Given the description of an element on the screen output the (x, y) to click on. 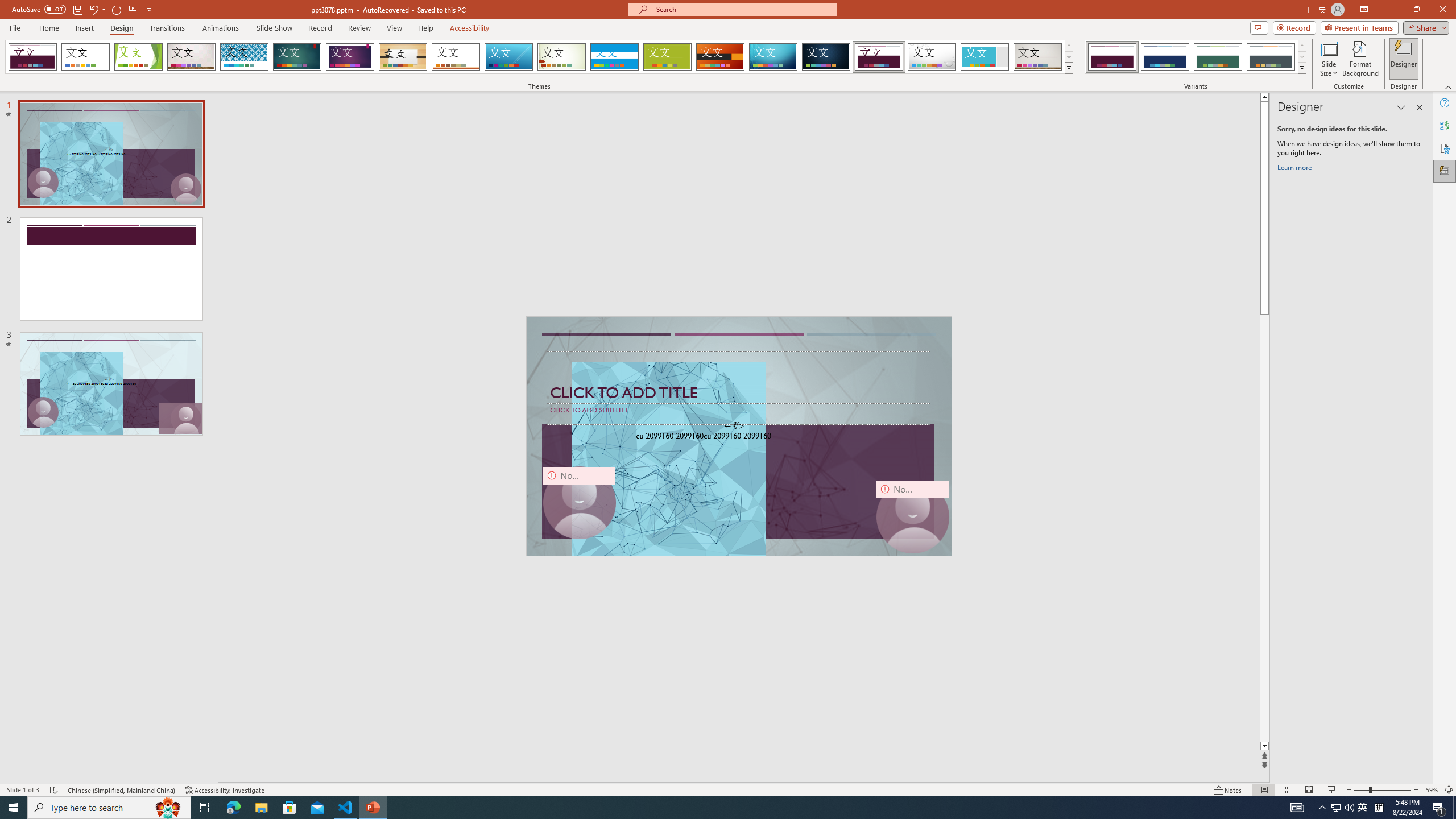
Circuit (772, 56)
Dividend Variant 2 (1164, 56)
Dividend Variant 1 (1112, 56)
